Given the description of an element on the screen output the (x, y) to click on. 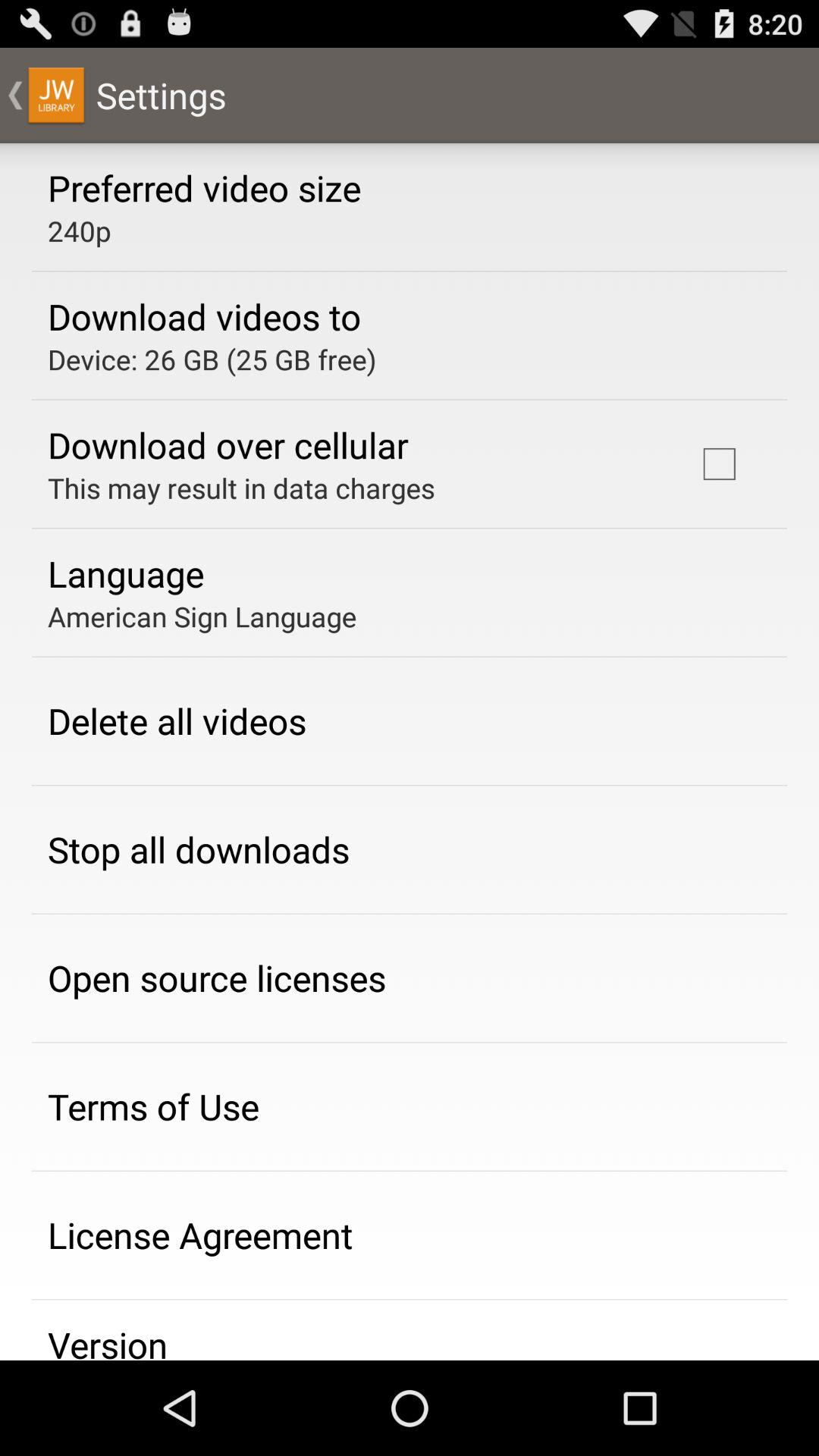
jump until the preferred video size app (204, 187)
